Given the description of an element on the screen output the (x, y) to click on. 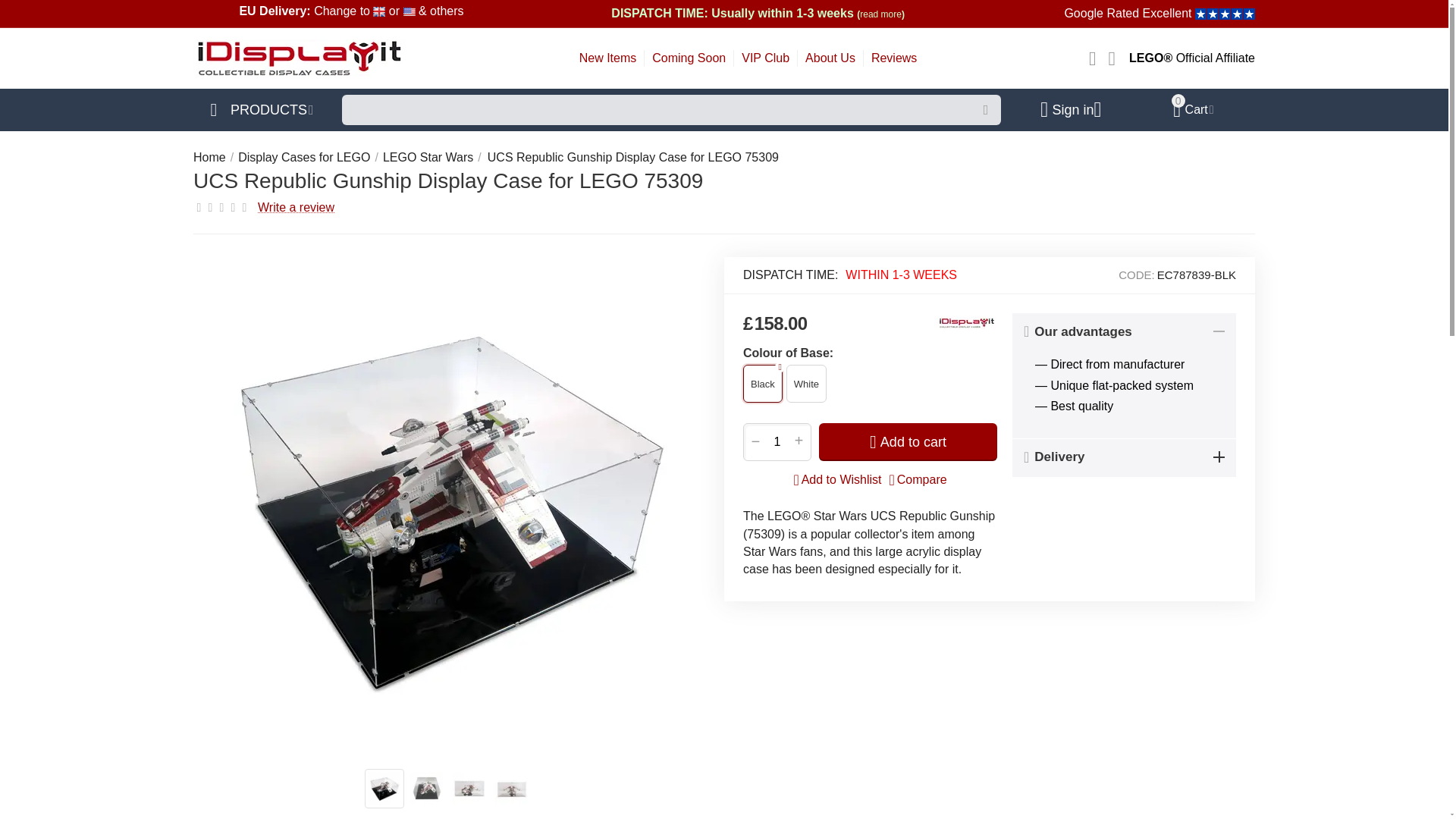
Sign in (295, 207)
Google Rated Excellent (1159, 12)
Search by product name or code (671, 110)
Reviews (893, 58)
VIP Club (765, 58)
read more (880, 12)
Search (986, 110)
New Items (608, 58)
Coming Soon (688, 58)
About Us (830, 58)
